Given the description of an element on the screen output the (x, y) to click on. 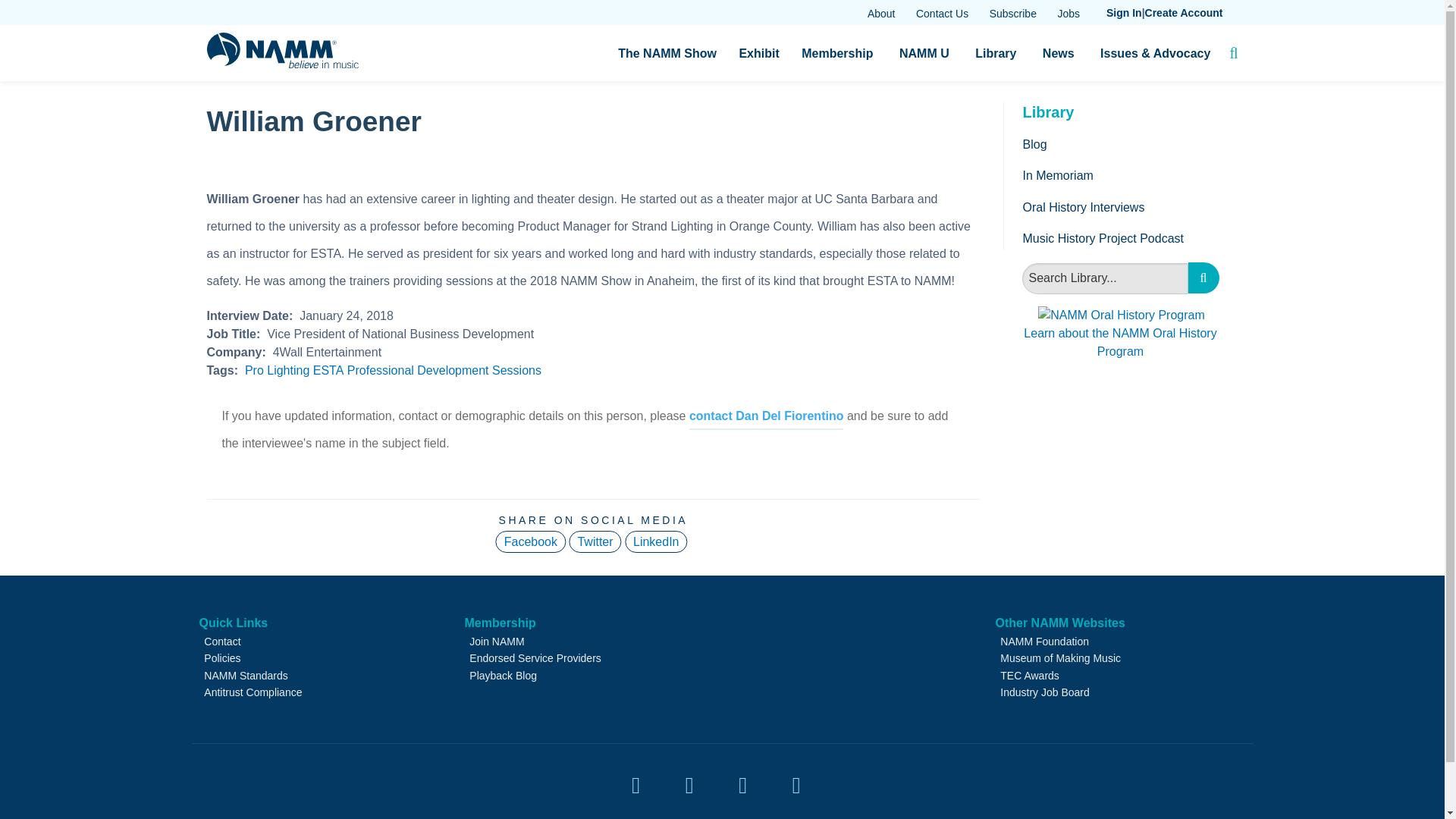
Contact Us (941, 13)
Subscribe (1013, 13)
The 2023 NAMM Show (667, 53)
NAMM - Believe In Music (282, 63)
The NAMM Show (667, 53)
Sign In to NAMM.org (1123, 13)
Create NAMM.org Web Account (1183, 13)
Sign In (1123, 13)
Exhibit (758, 52)
Industry Job Board (1068, 13)
About NAMM (881, 13)
About (881, 13)
Jobs (1068, 13)
Send an Email to NAMM (941, 13)
Create Account (1183, 13)
